Given the description of an element on the screen output the (x, y) to click on. 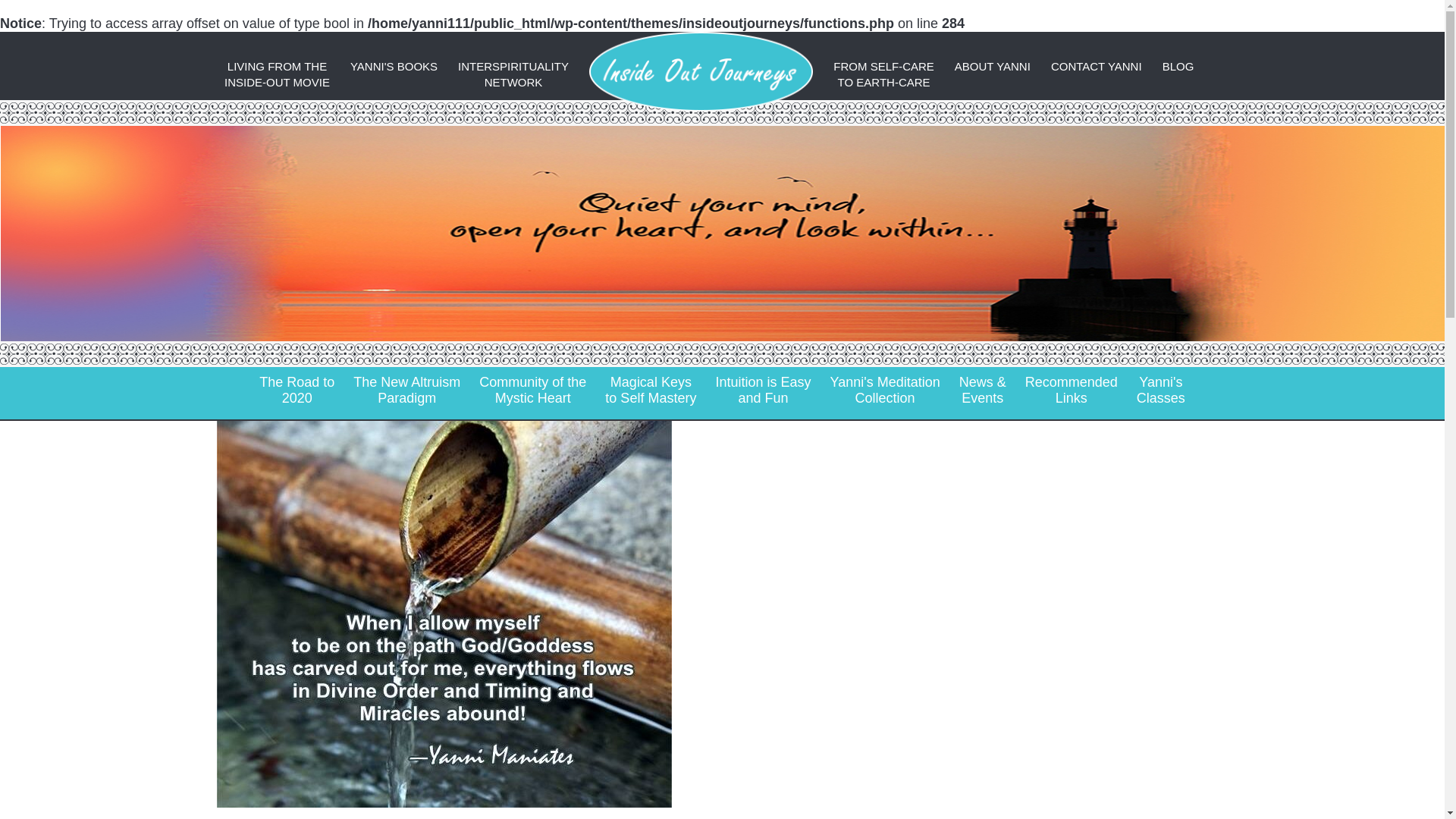
CONTACT YANNI (406, 390)
ABOUT YANNI (1096, 65)
BLOG (992, 65)
YANNI'S BOOKS (1071, 390)
